Given the description of an element on the screen output the (x, y) to click on. 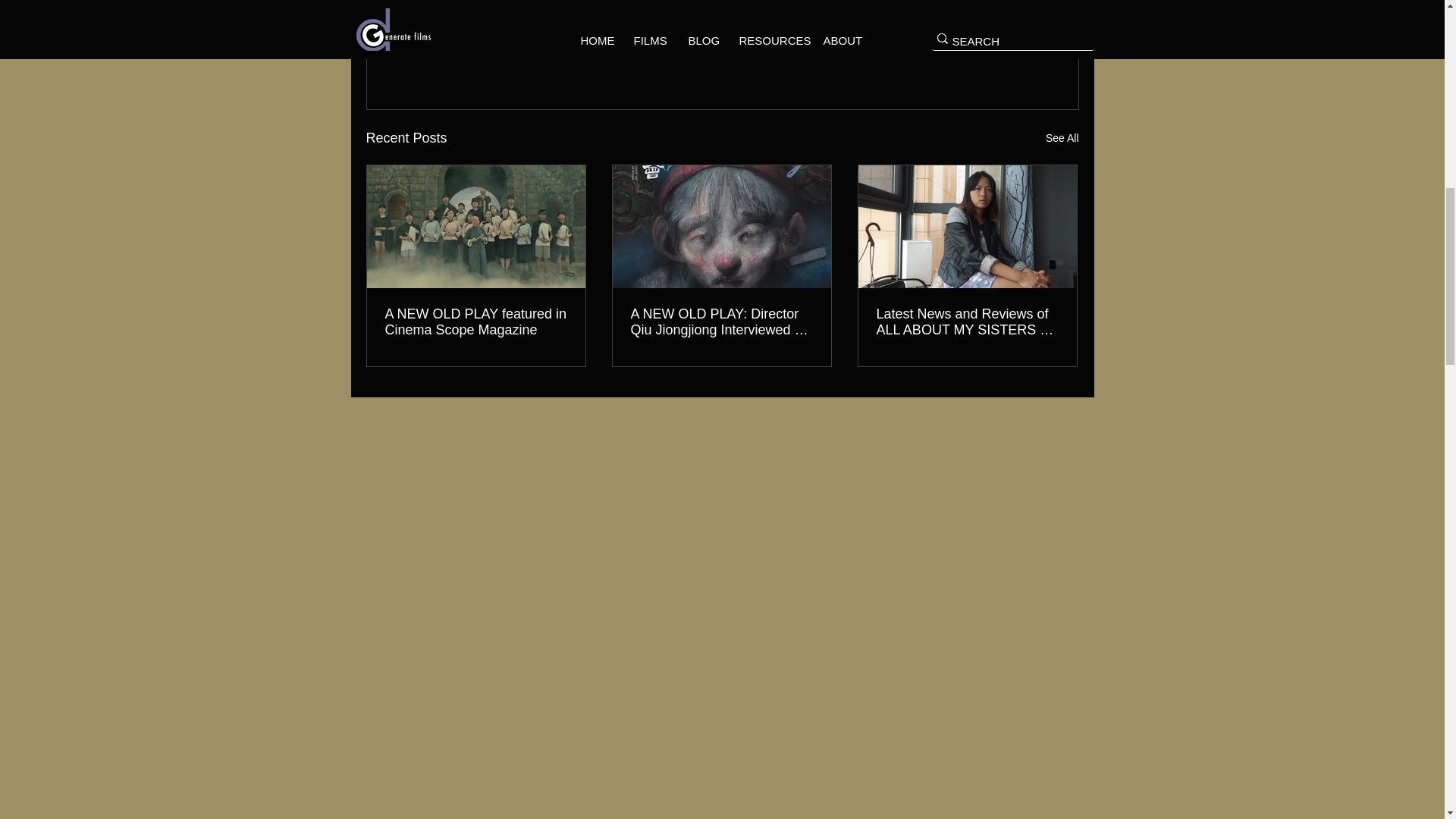
A NEW OLD PLAY featured in Cinema Scope Magazine (476, 322)
See All (1061, 138)
